Given the description of an element on the screen output the (x, y) to click on. 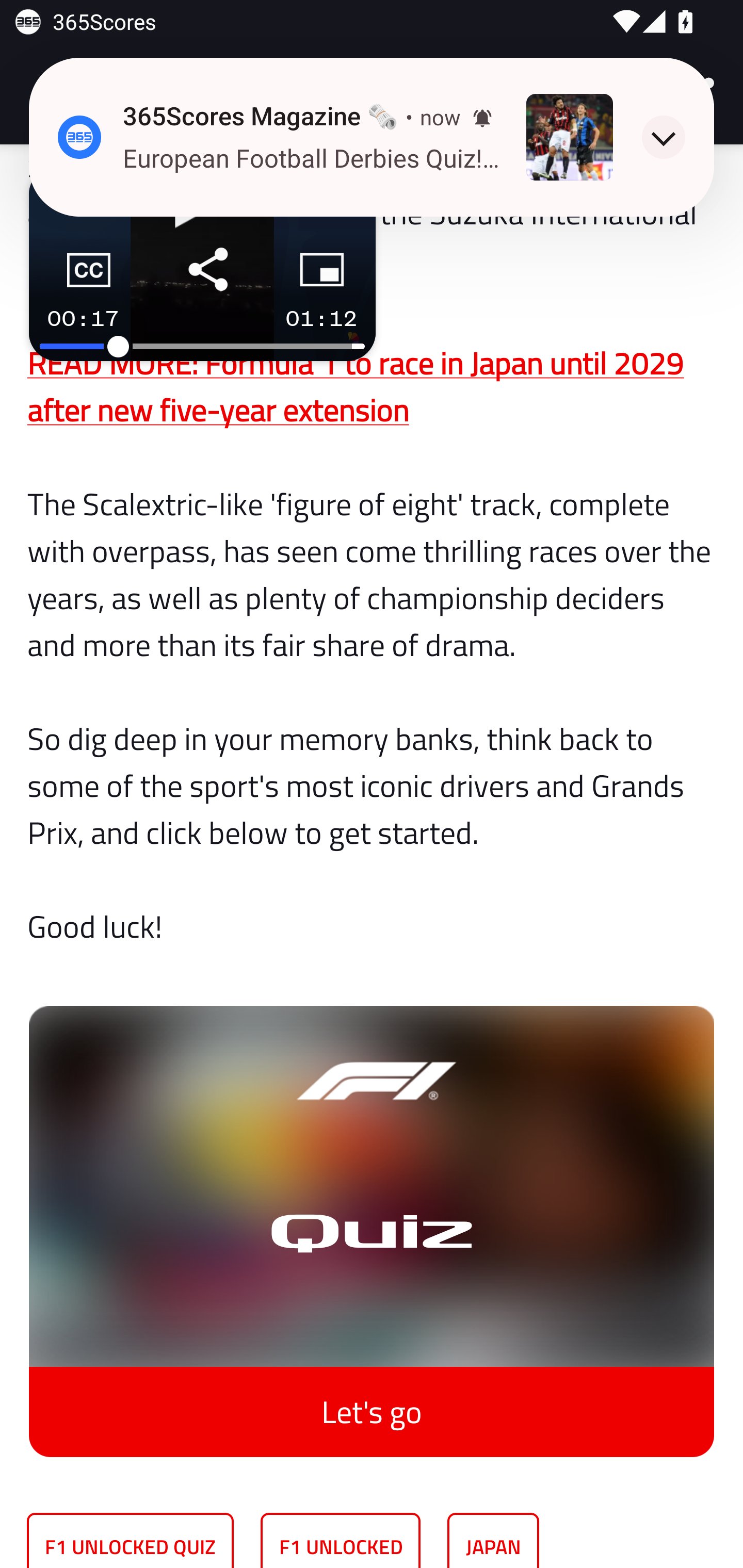
Quiz Let's go (371, 1216)
F1 UNLOCKED F1 Unlocked. Double tap to activate (340, 1540)
JAPAN Japan. Double tap to activate (493, 1540)
